Given the description of an element on the screen output the (x, y) to click on. 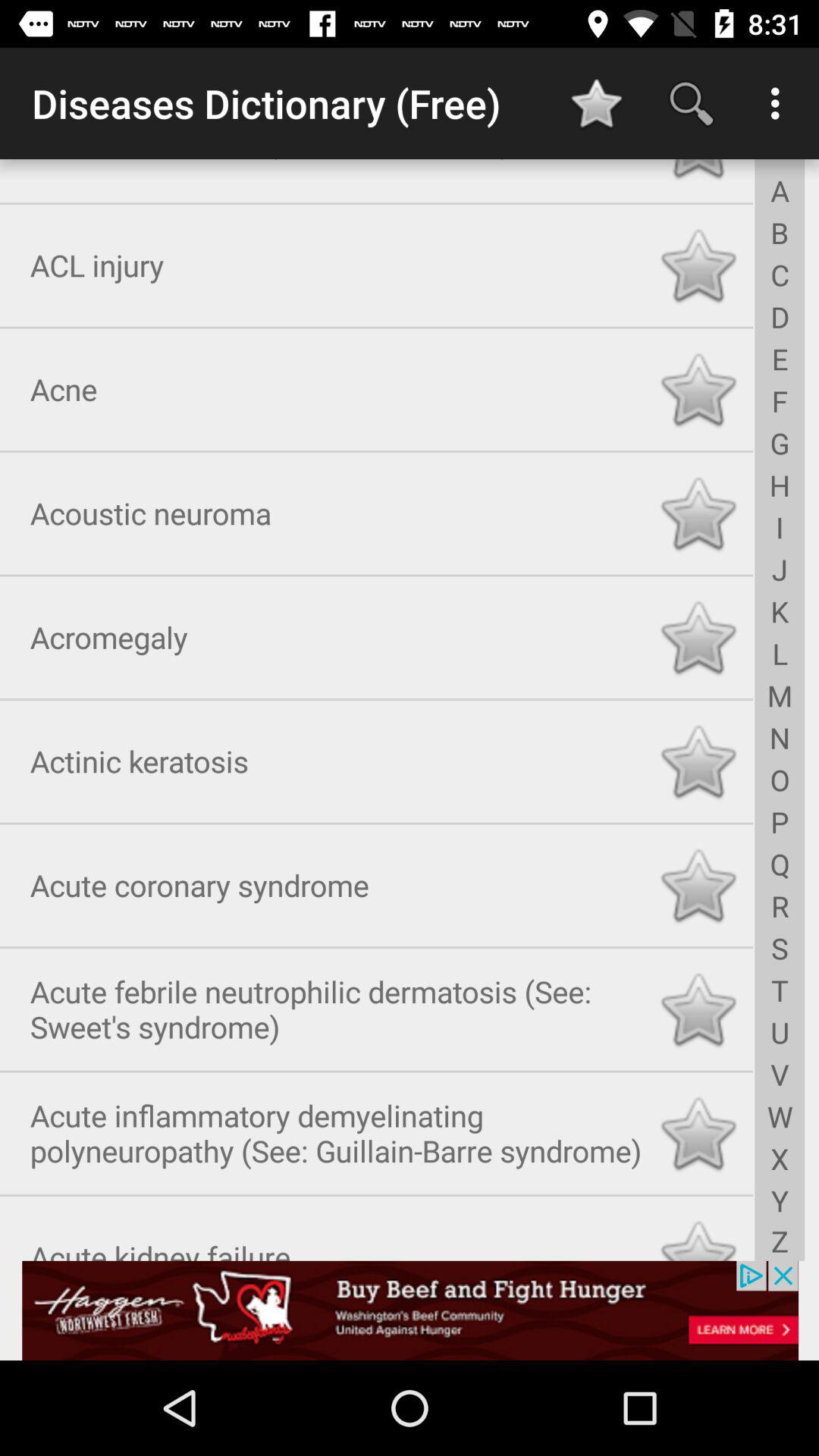
highlighted button (697, 171)
